Given the description of an element on the screen output the (x, y) to click on. 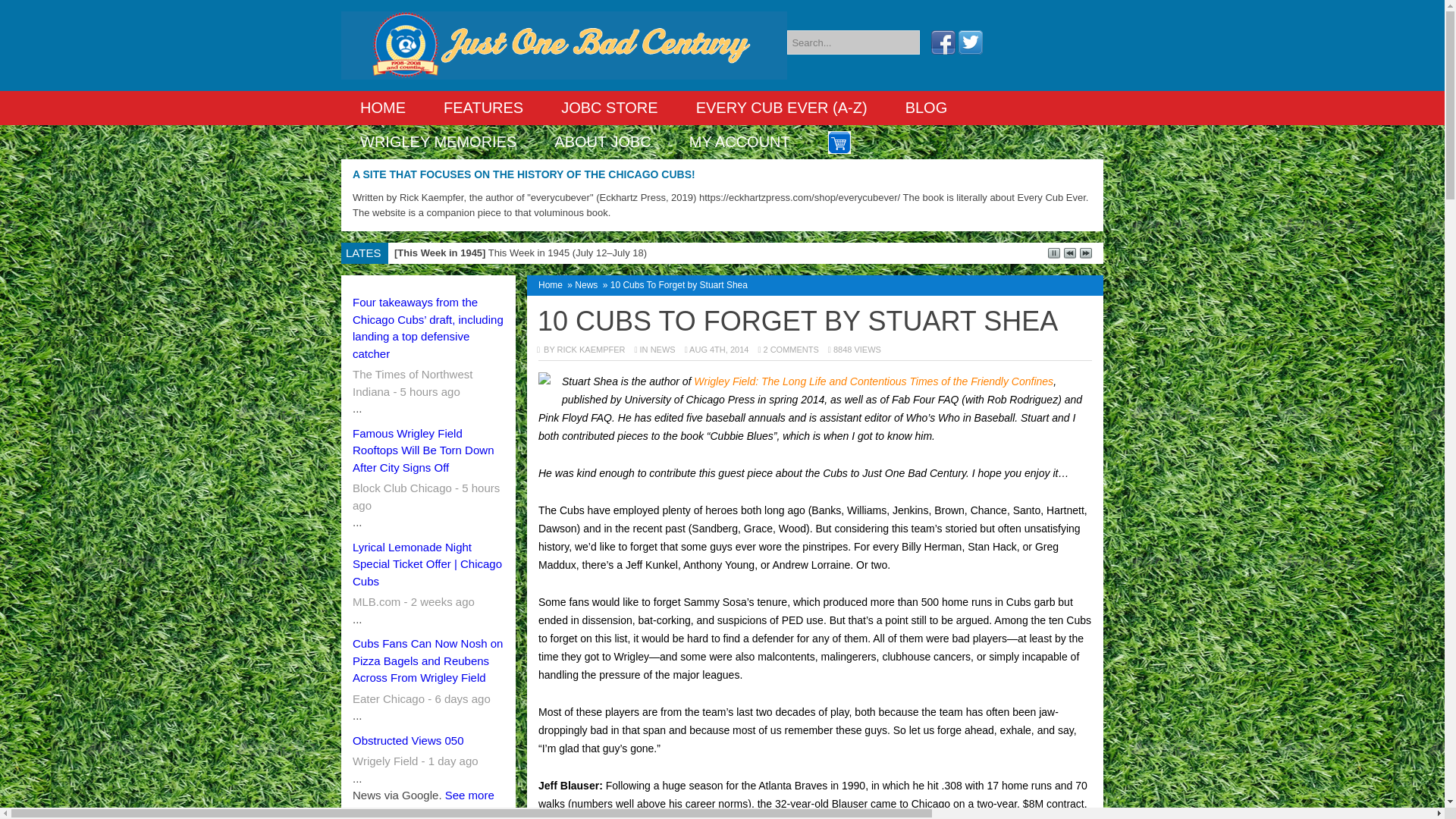
JOBC STORE (609, 107)
BLOG (926, 107)
FEATURES (483, 107)
Search... (853, 42)
HOME (382, 107)
